Given the description of an element on the screen output the (x, y) to click on. 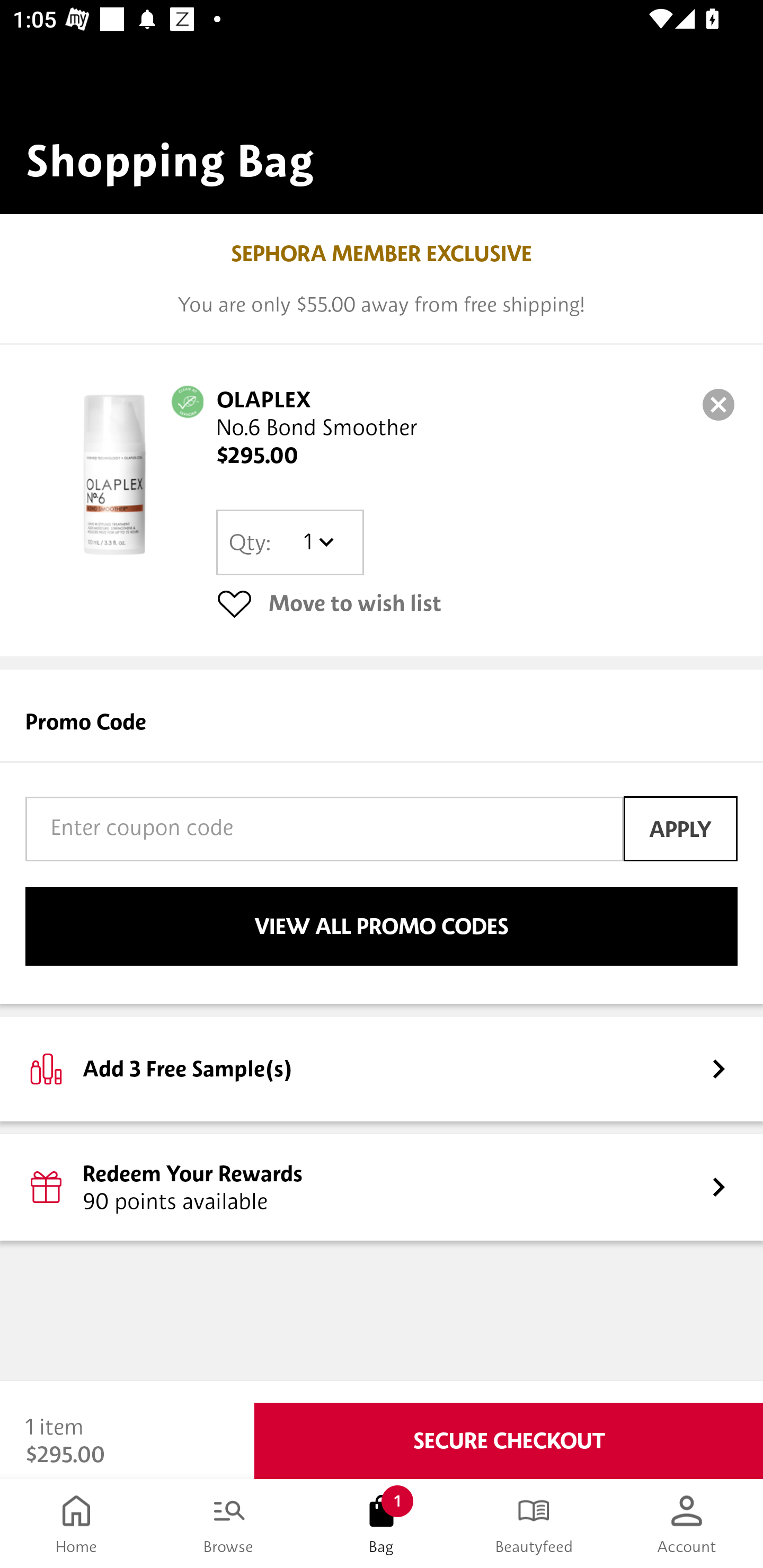
1 (317, 542)
Move to wish list (476, 602)
APPLY (680, 828)
Enter coupon code (324, 828)
VIEW ALL PROMO CODES (381, 926)
Add 3 Free Sample(s) (381, 1068)
Redeem Your Rewards 90 points available (381, 1186)
SECURE CHECKOUT (508, 1440)
Home (76, 1523)
Browse (228, 1523)
Beautyfeed (533, 1523)
Account (686, 1523)
